Given the description of an element on the screen output the (x, y) to click on. 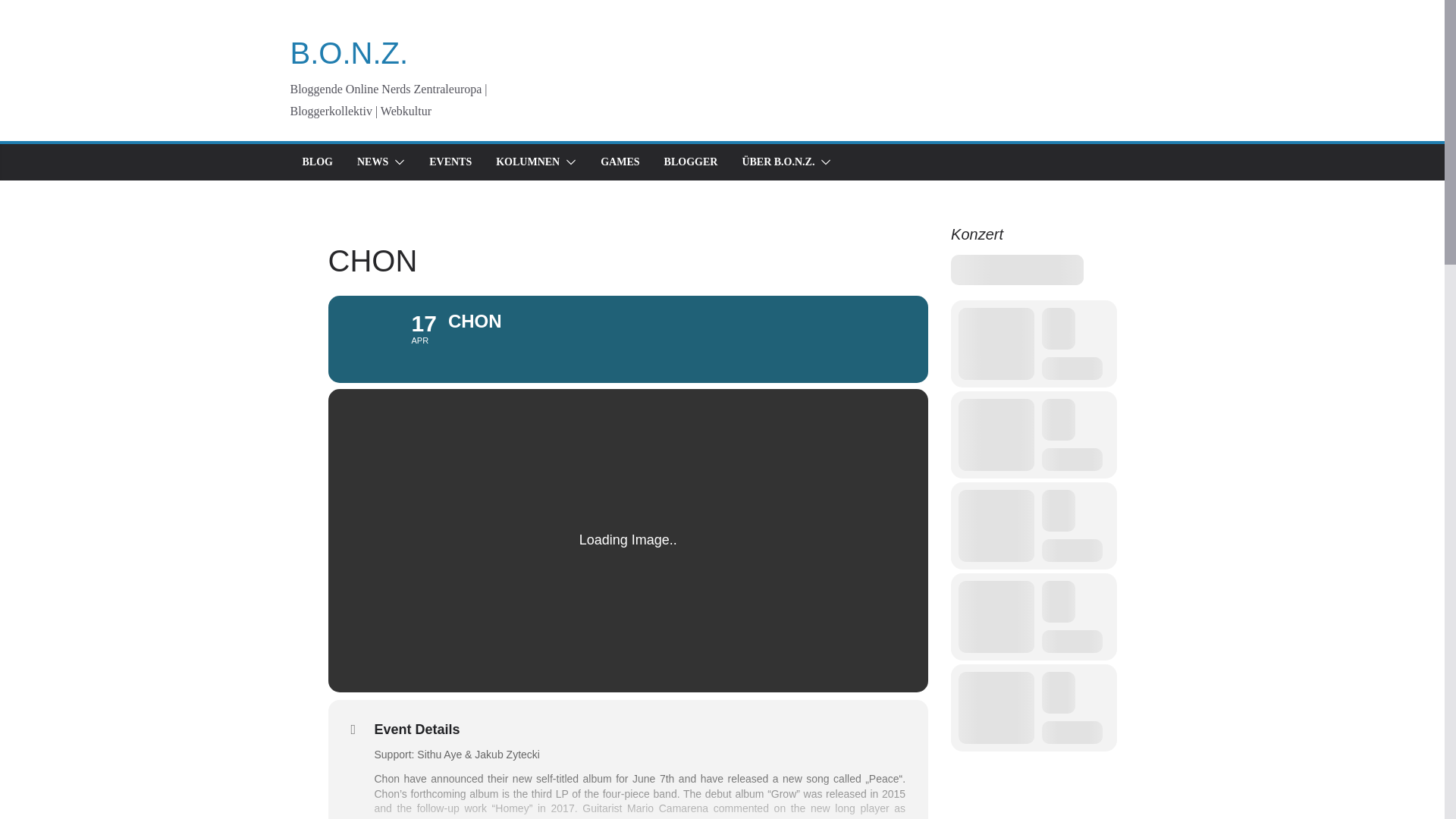
KOLUMNEN (527, 161)
B.O.N.Z. (348, 52)
EVENTS (450, 161)
GAMES (619, 161)
BLOG (316, 161)
NEWS (627, 339)
B.O.N.Z. (372, 161)
BLOGGER (348, 52)
